Given the description of an element on the screen output the (x, y) to click on. 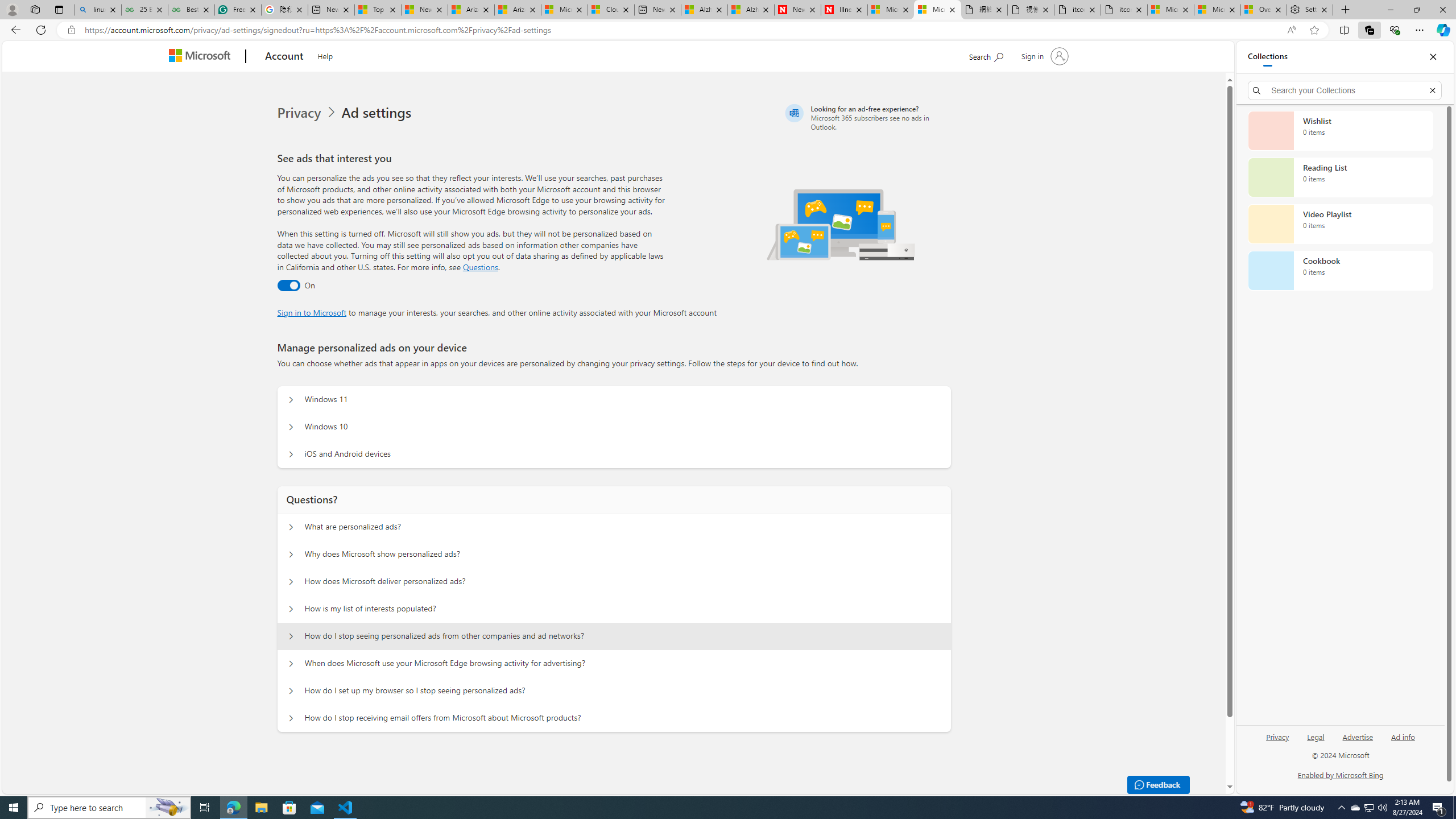
Search Microsoft.com (986, 54)
itconcepthk.com/projector_solutions.mp4 (1123, 9)
Account (283, 56)
Ad settings (379, 112)
linux basic - Search (97, 9)
